Given the description of an element on the screen output the (x, y) to click on. 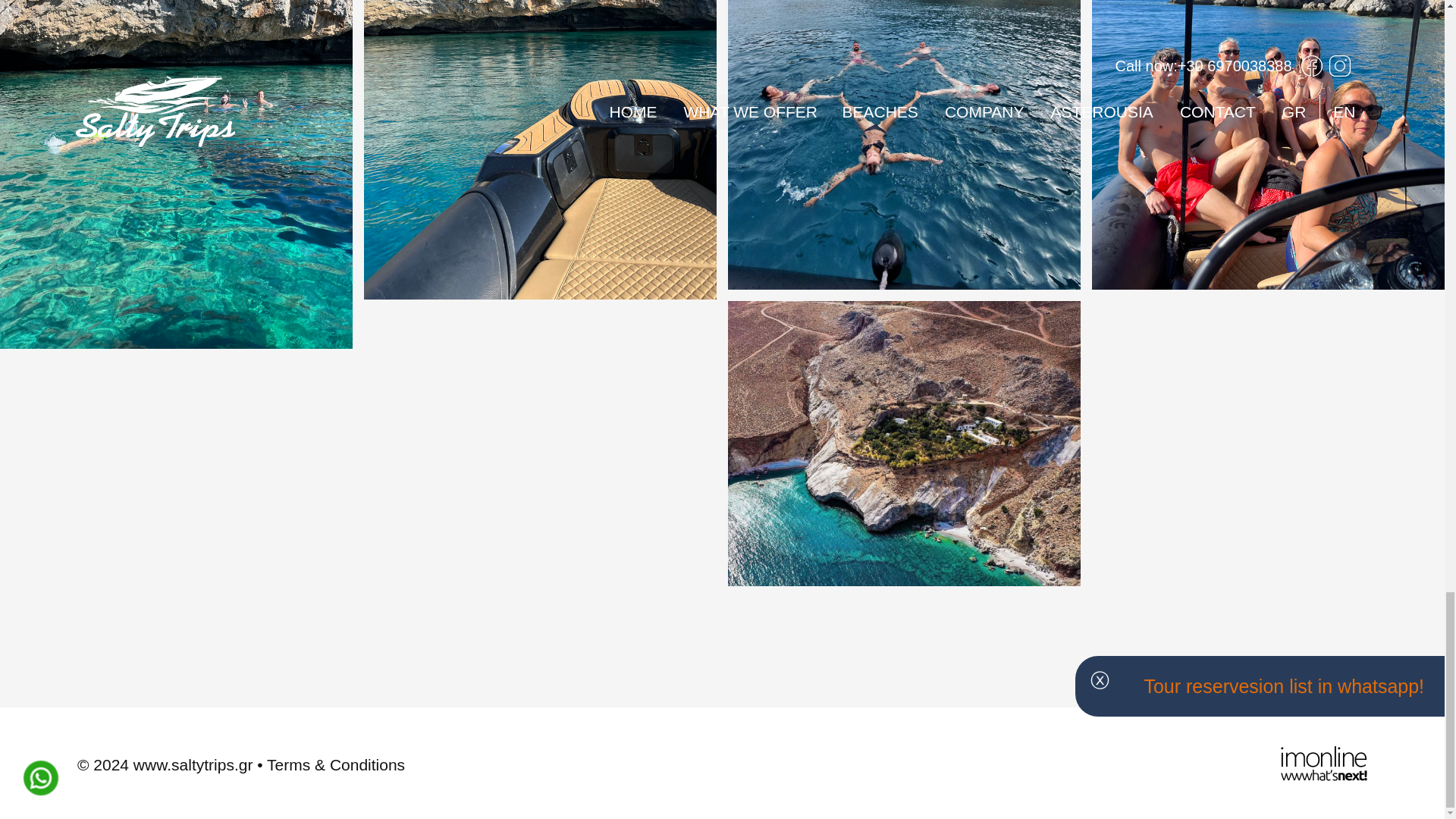
www.saltytrips.gr (193, 764)
